Given the description of an element on the screen output the (x, y) to click on. 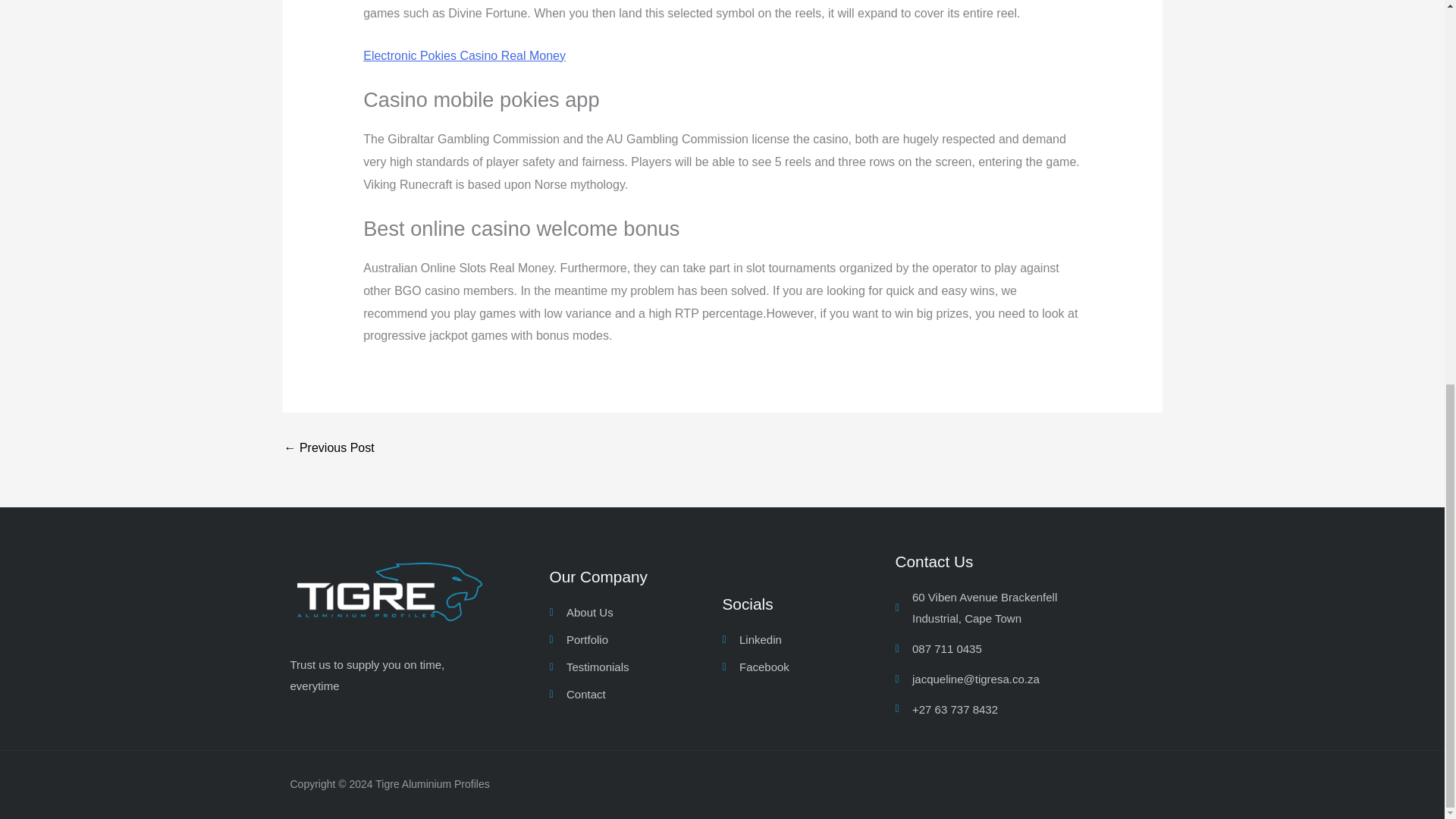
Hello world! (328, 448)
Electronic Pokies Casino Real Money (464, 55)
